Given the description of an element on the screen output the (x, y) to click on. 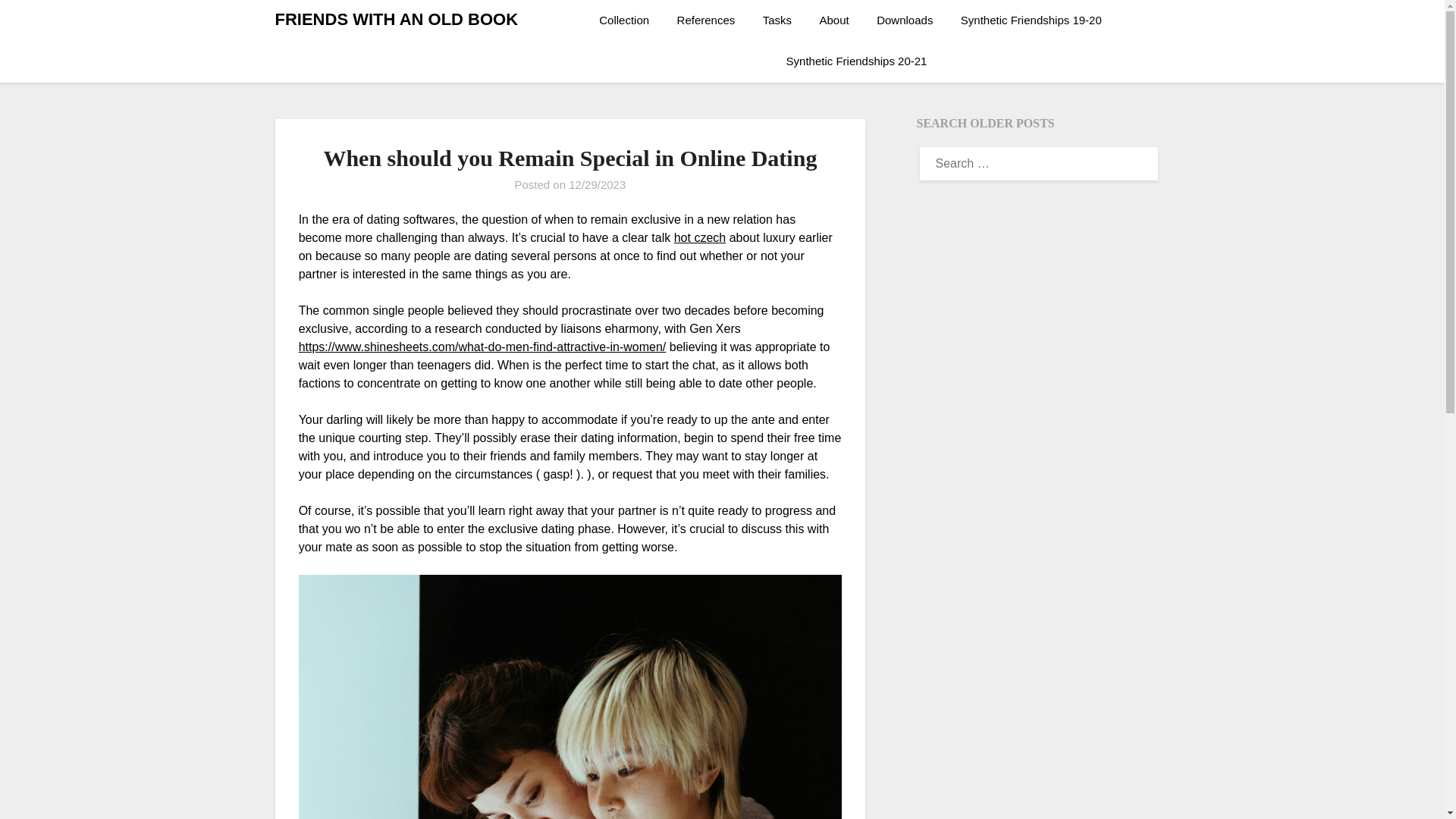
Collection (629, 20)
Search (38, 22)
Synthetic Friendships 19-20 (1031, 20)
Downloads (904, 20)
Synthetic Friendships 20-21 (856, 60)
FRIENDS WITH AN OLD BOOK (396, 19)
About (834, 20)
References (706, 20)
Tasks (777, 20)
hot czech (699, 237)
